Given the description of an element on the screen output the (x, y) to click on. 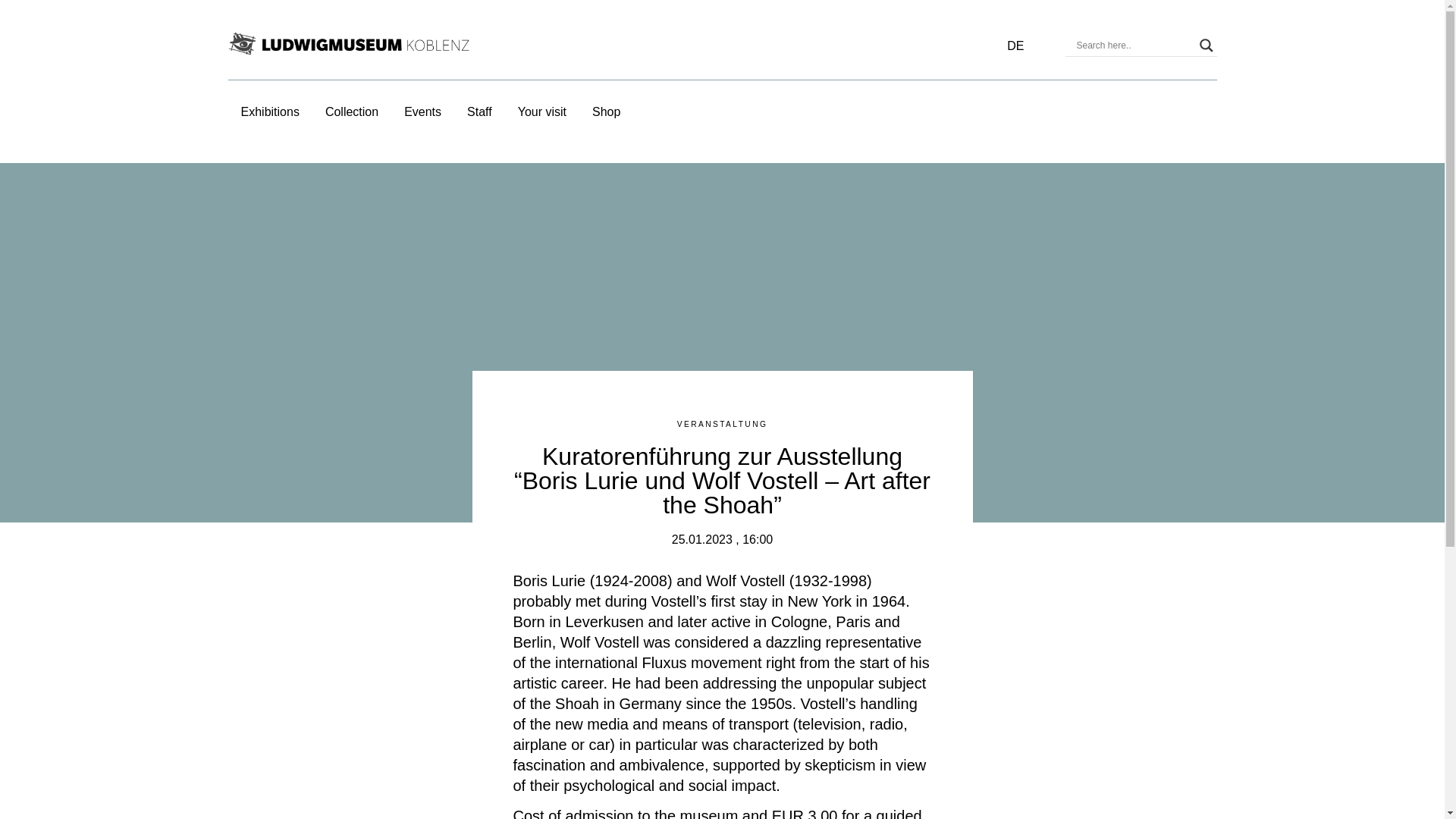
DE (1015, 45)
Collection (351, 111)
Your visit (542, 111)
Exhibitions (270, 111)
Staff (479, 111)
Events (422, 111)
Shop (606, 111)
